Given the description of an element on the screen output the (x, y) to click on. 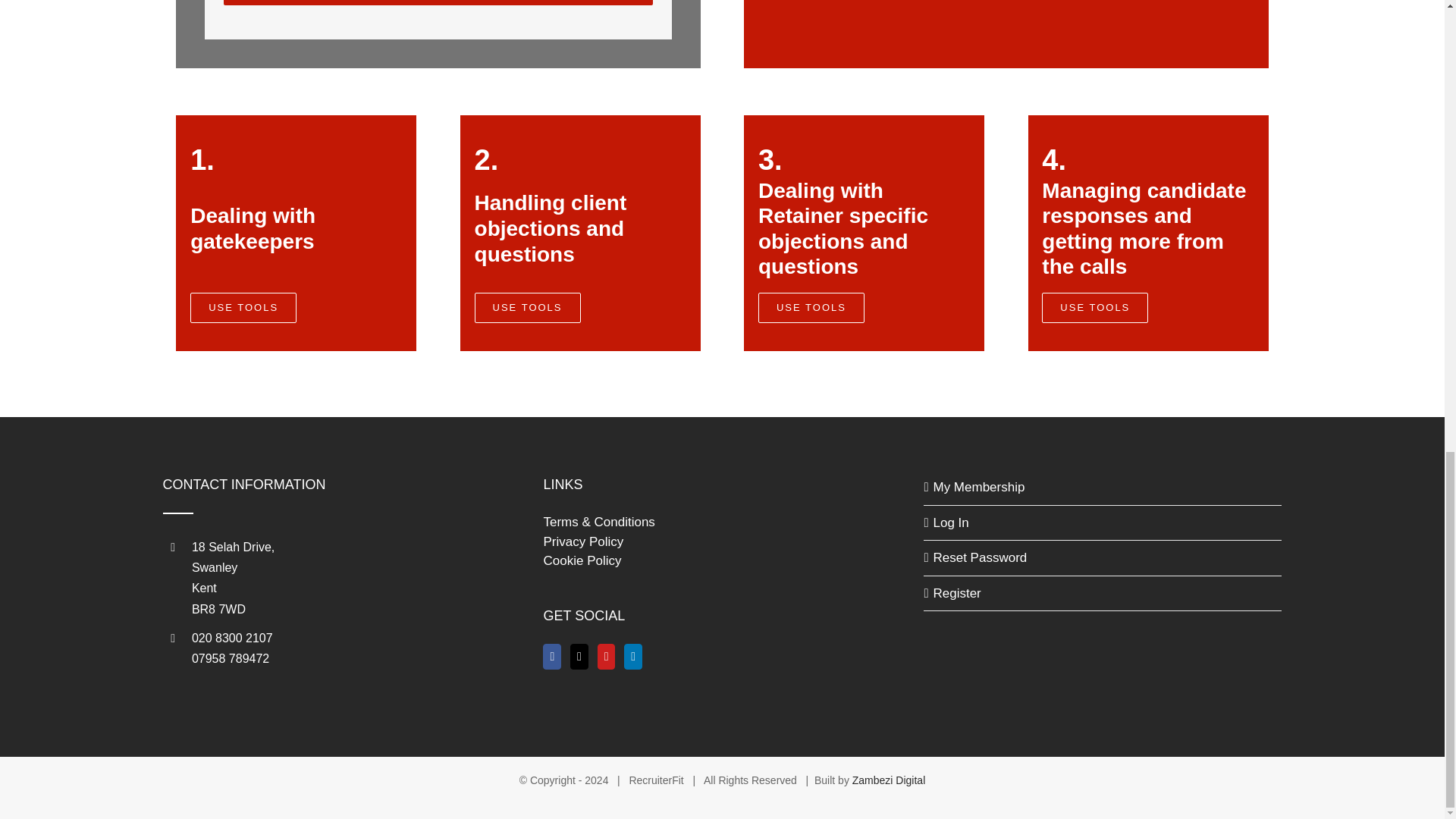
USE TOOLS (811, 307)
My Membership (1103, 487)
USE TOOLS (1095, 307)
LOG IN (438, 2)
Privacy Policy (583, 541)
USE TOOLS (243, 307)
USE TOOLS (527, 307)
Cookie Policy (582, 560)
